Given the description of an element on the screen output the (x, y) to click on. 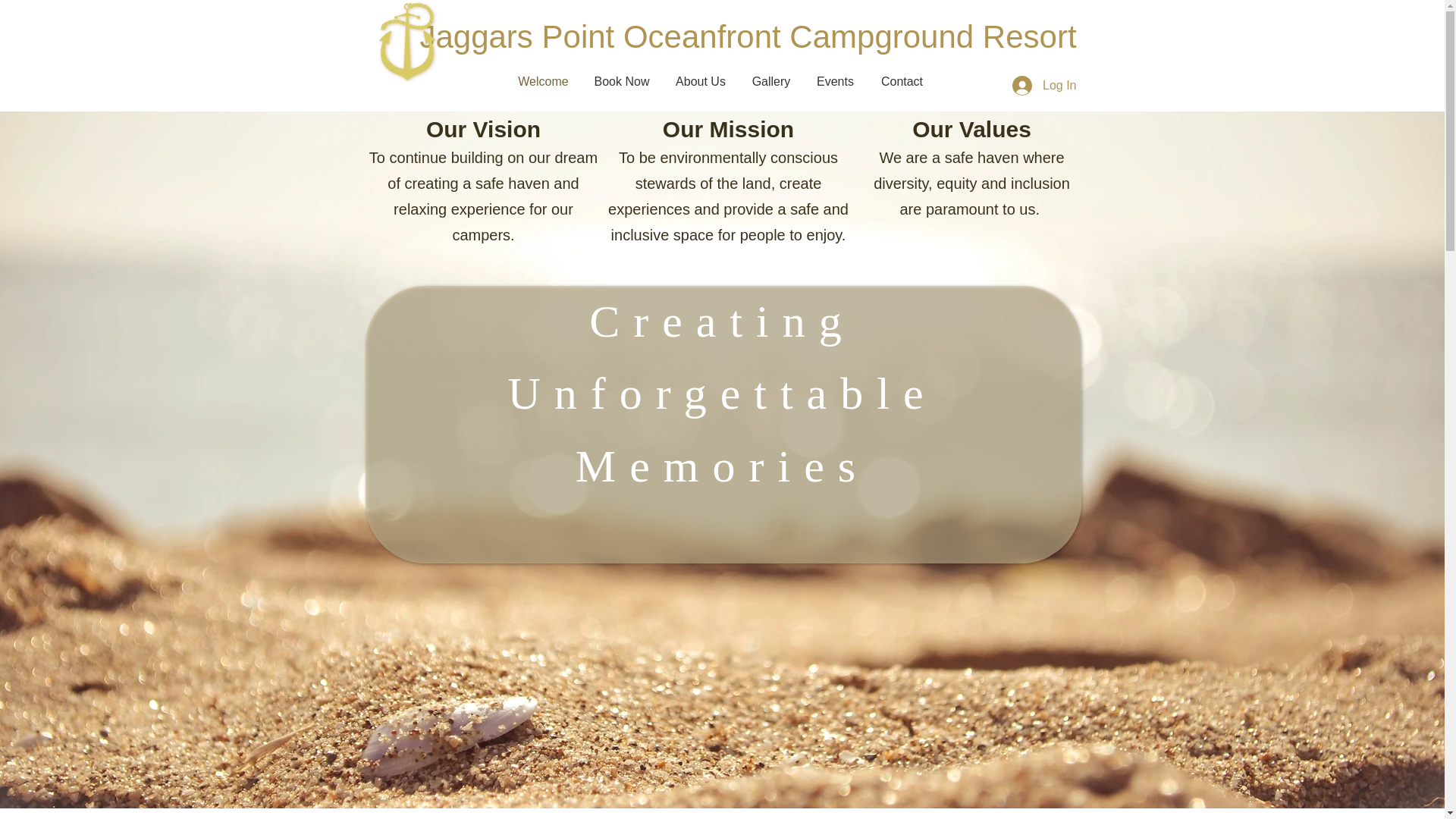
Welcome (542, 81)
Events (835, 81)
Log In (1043, 85)
Book Now (621, 81)
Contact (902, 81)
Jaggars Point Oceanfront Campground Resort (748, 37)
Gallery (770, 81)
About Us (700, 81)
